Given the description of an element on the screen output the (x, y) to click on. 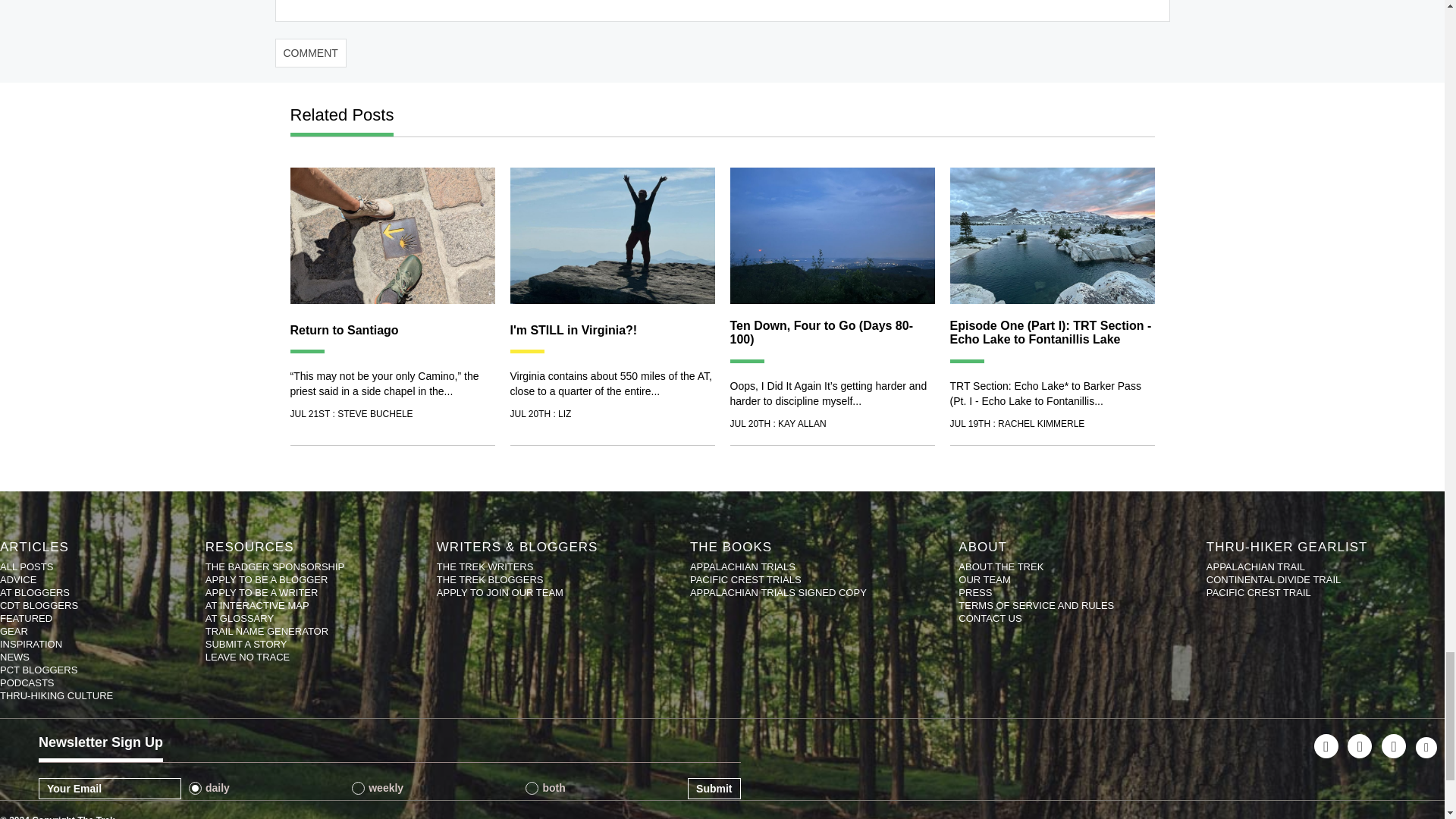
Comment (310, 52)
Sign Up (713, 788)
